Given the description of an element on the screen output the (x, y) to click on. 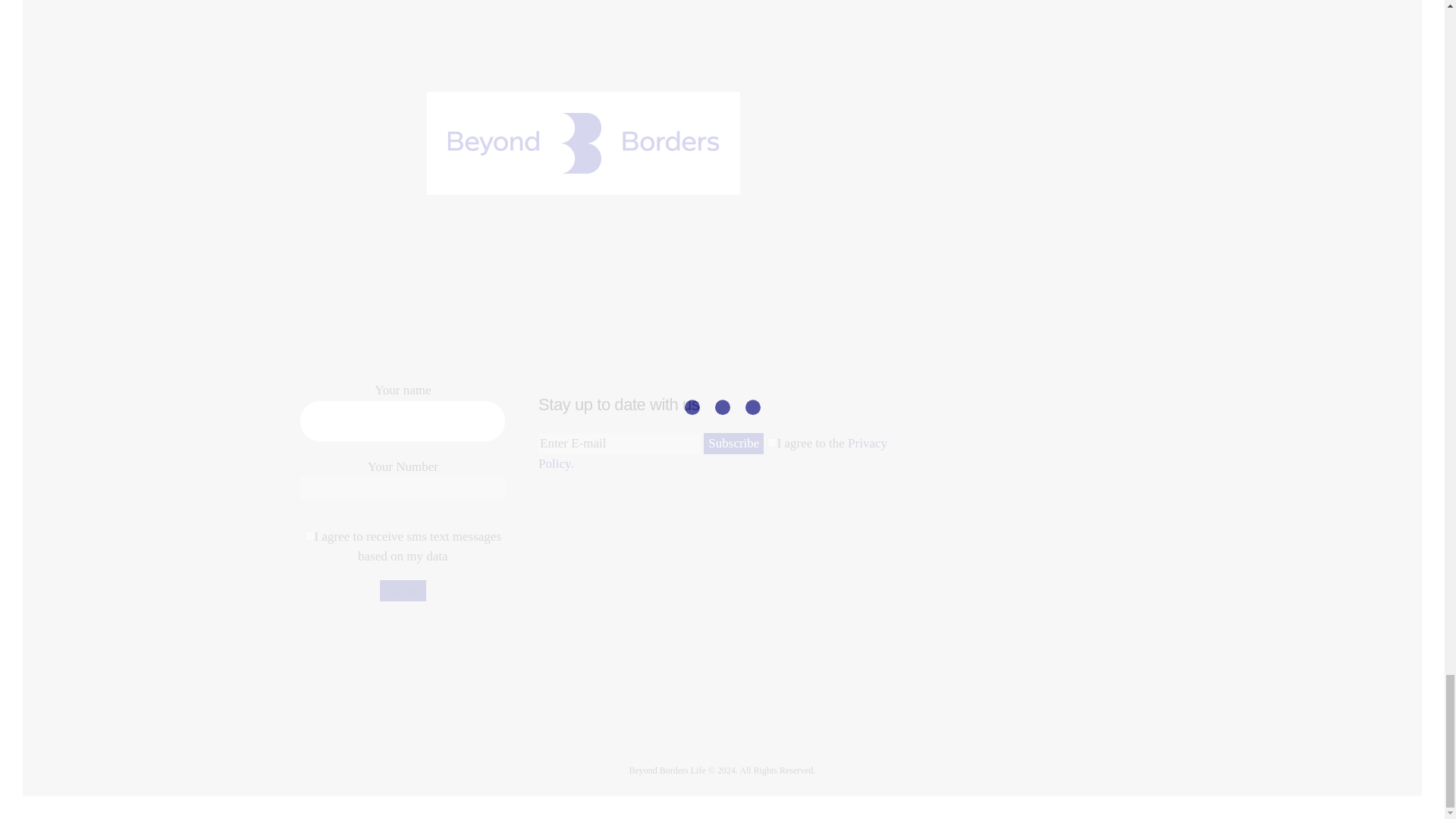
Subscribe (732, 444)
Submit (403, 590)
1 (772, 442)
1 (309, 535)
